Given the description of an element on the screen output the (x, y) to click on. 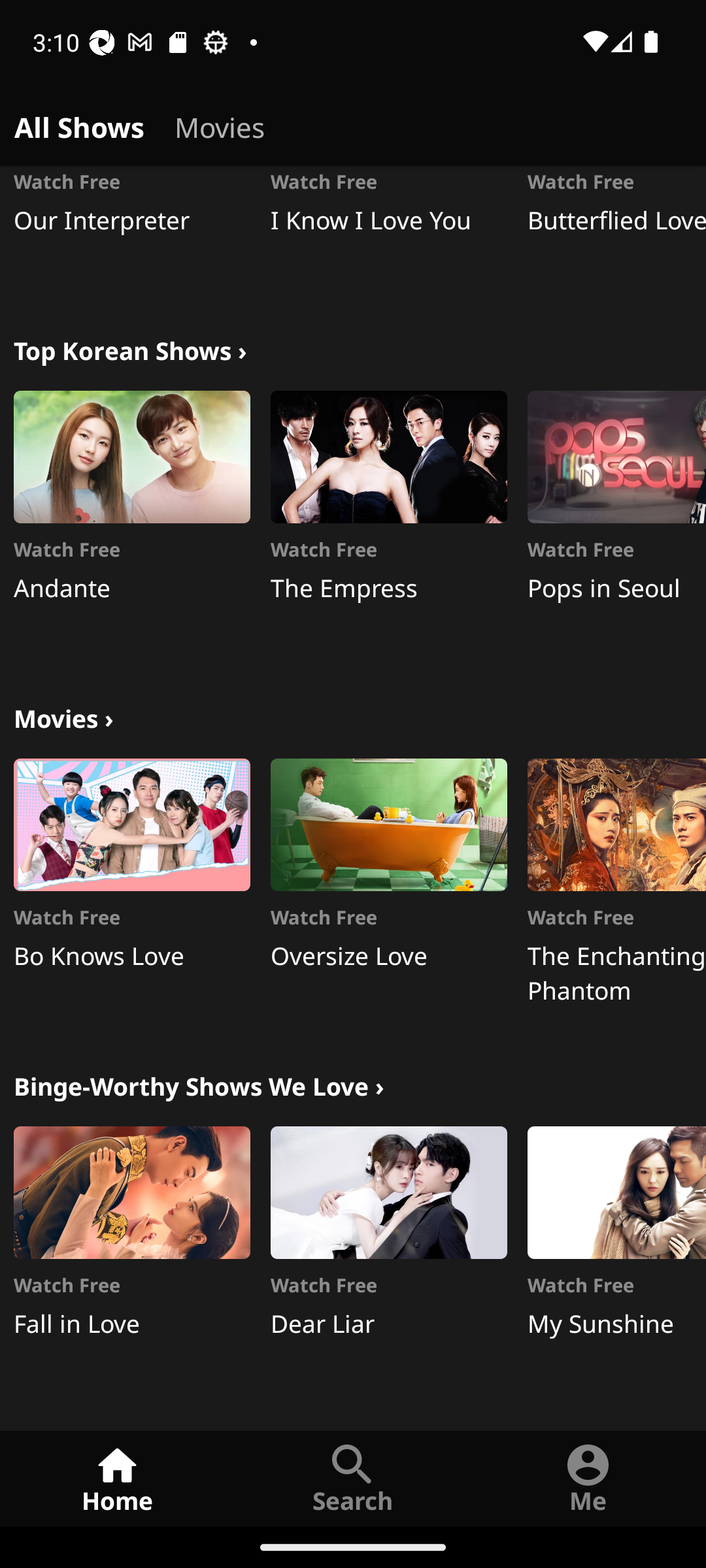
Search (352, 1478)
Me (588, 1478)
